Given the description of an element on the screen output the (x, y) to click on. 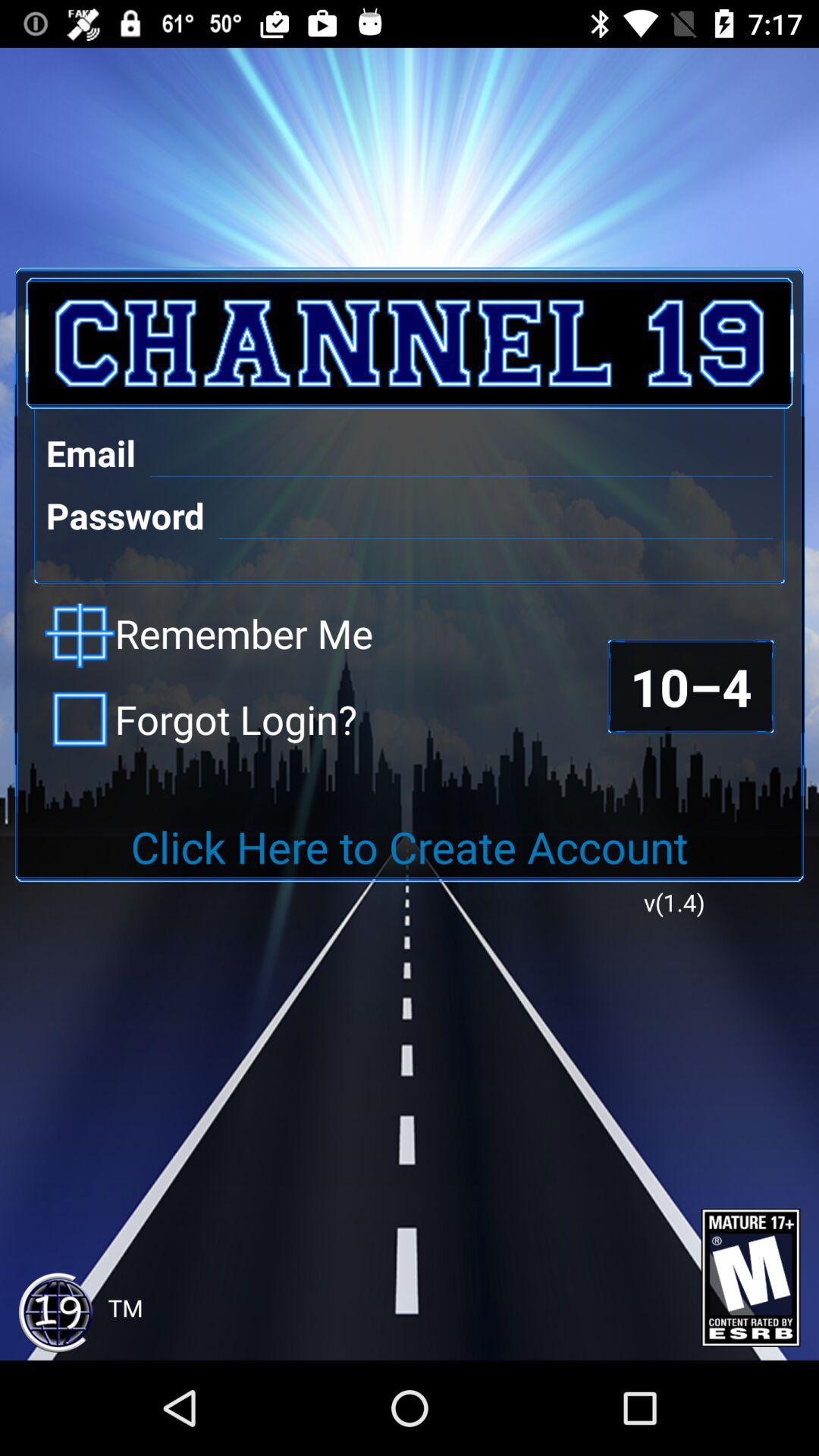
turn on the icon above the click here to app (200, 719)
